Given the description of an element on the screen output the (x, y) to click on. 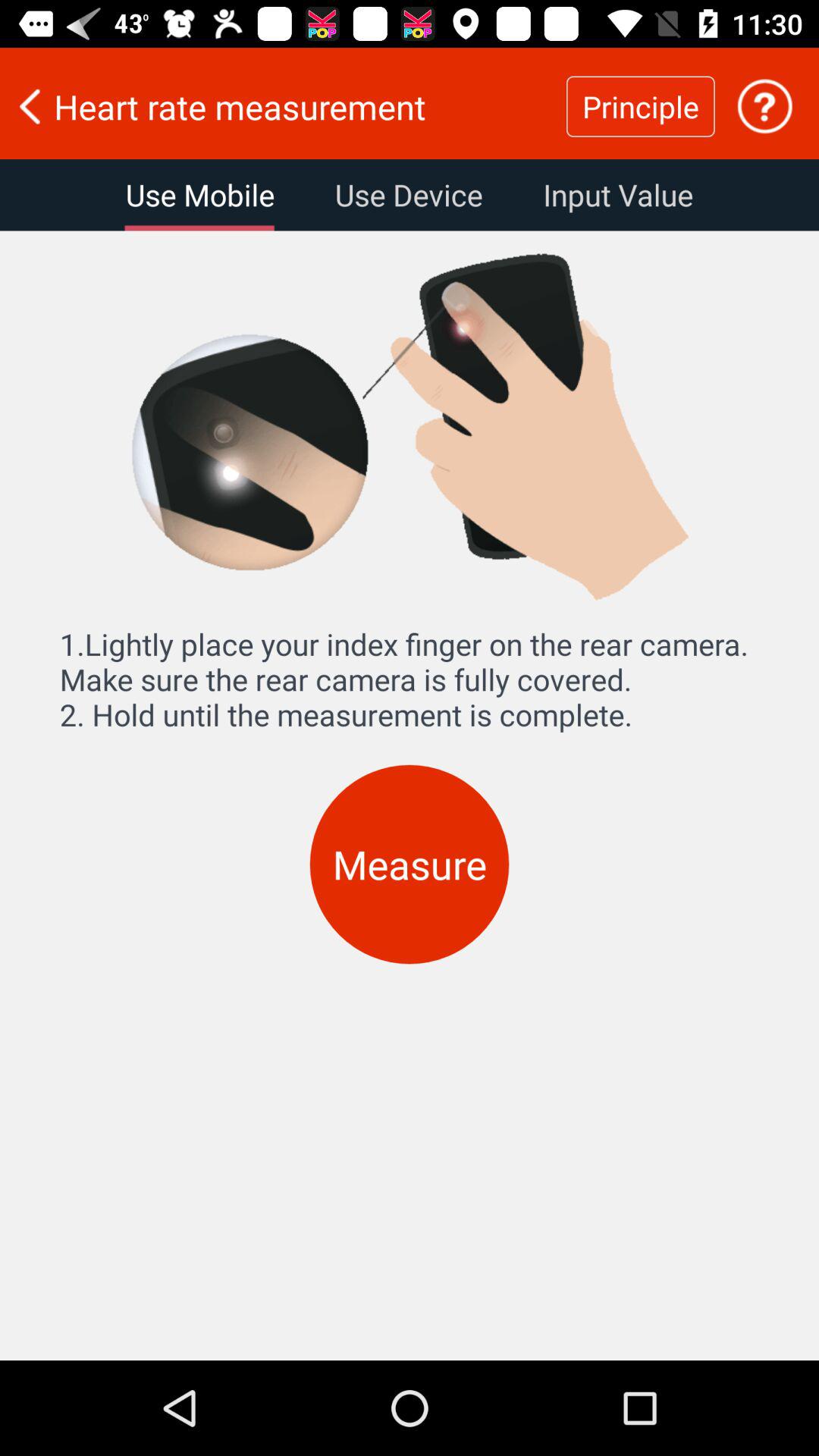
launch icon at the top left corner (199, 194)
